Given the description of an element on the screen output the (x, y) to click on. 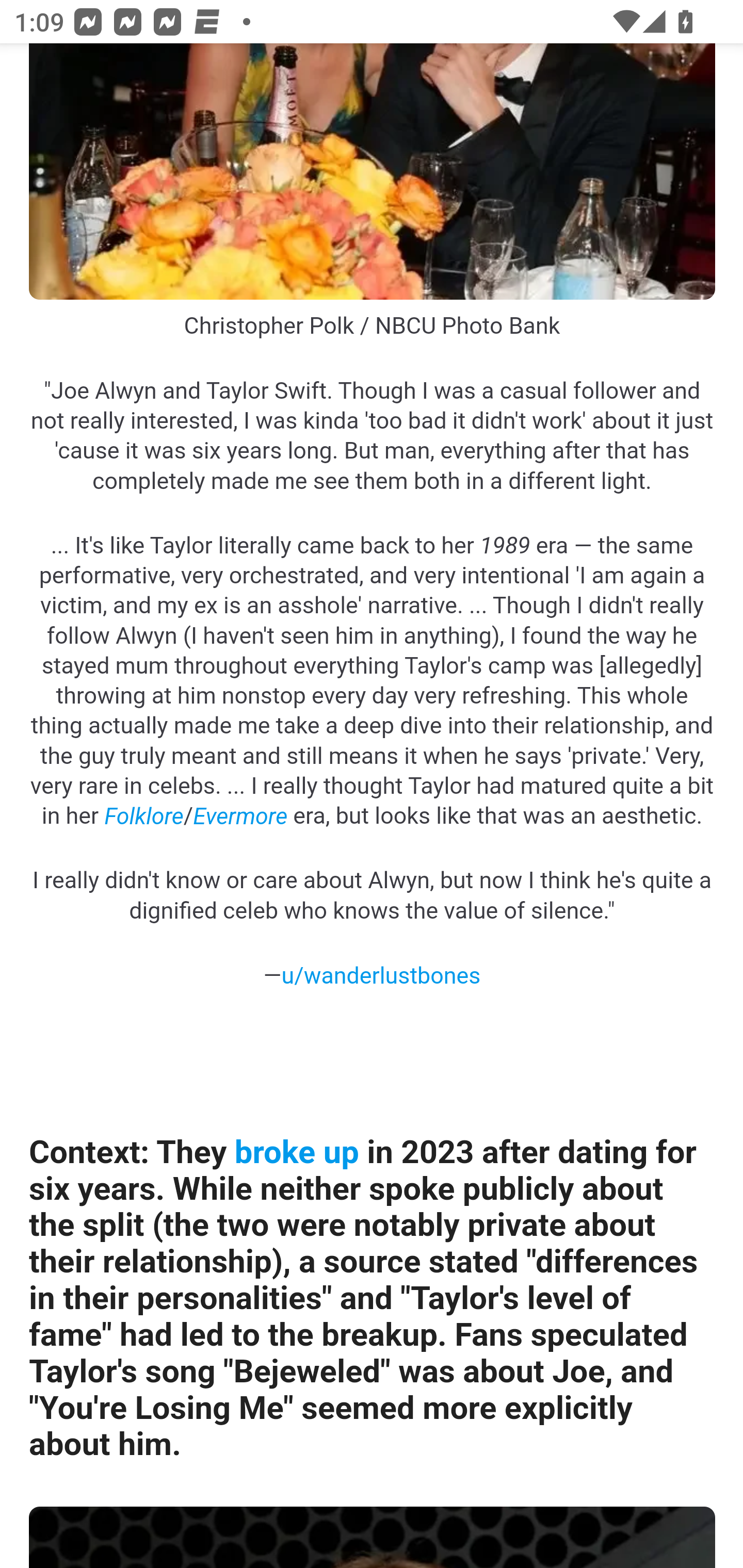
Folklore (143, 815)
Evermore (240, 815)
u/wanderlustbones (380, 974)
broke up (295, 1153)
